Given the description of an element on the screen output the (x, y) to click on. 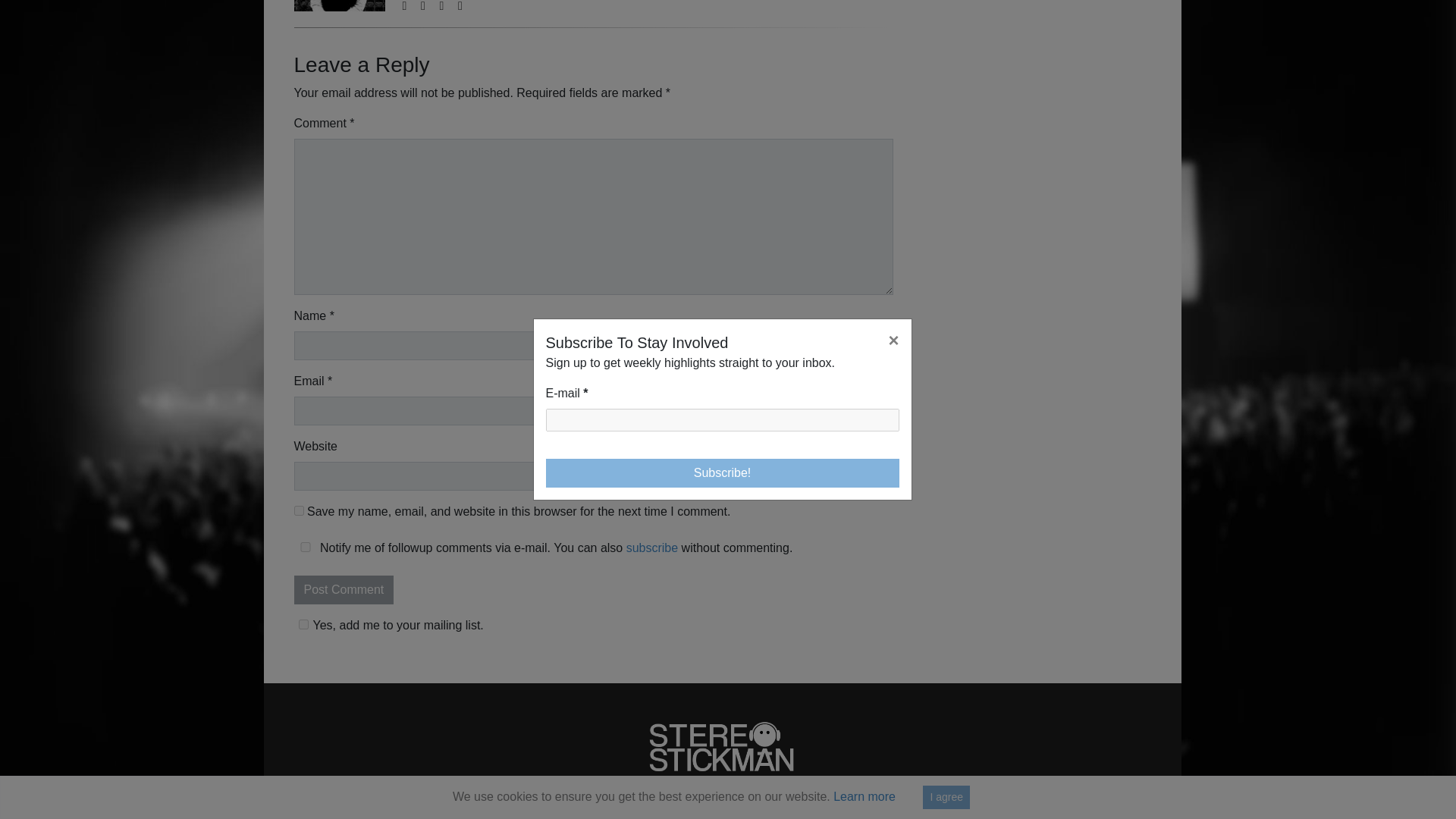
Post Comment (344, 589)
